Given the description of an element on the screen output the (x, y) to click on. 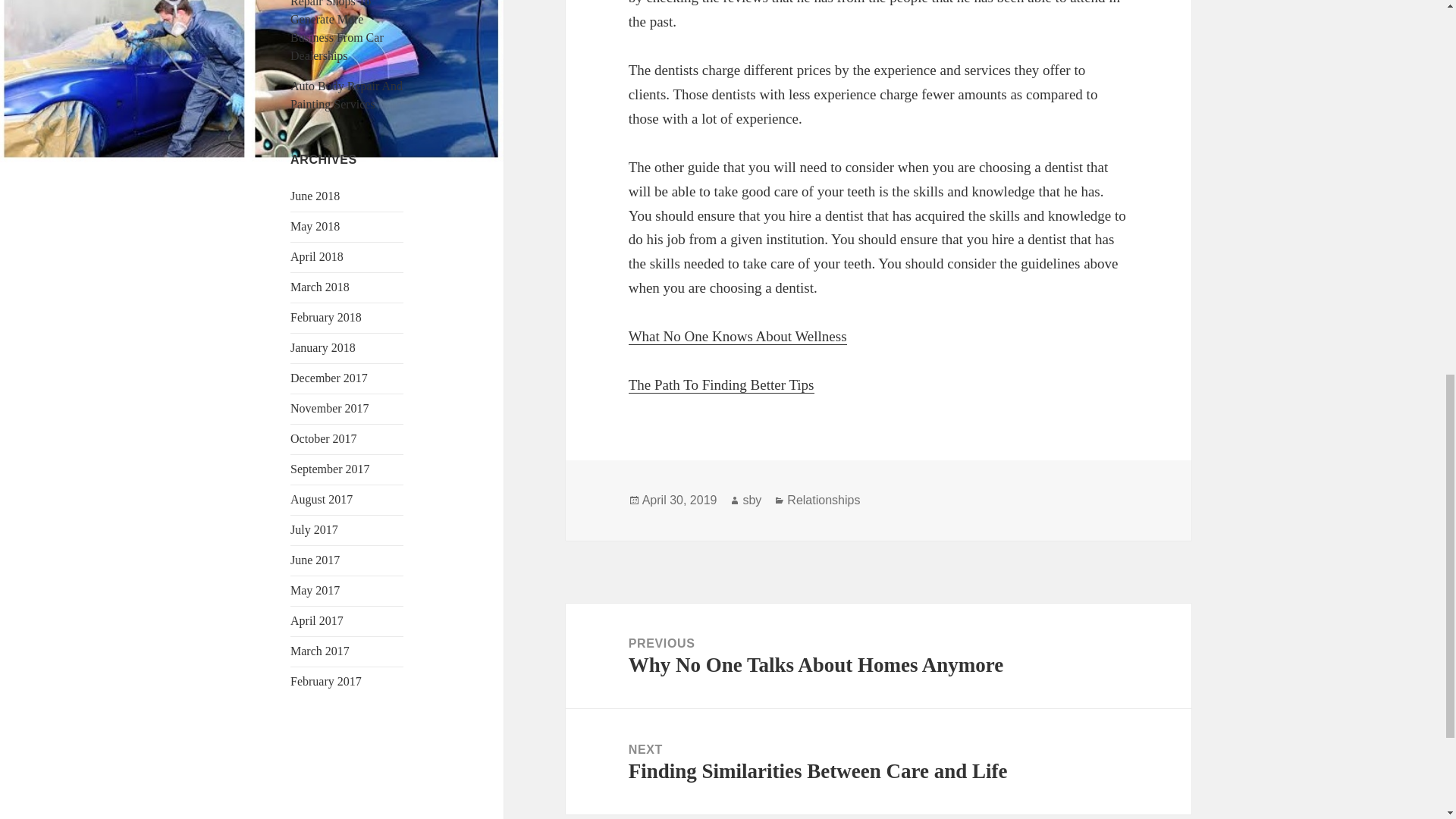
November 2017 (329, 408)
July 2017 (313, 529)
February 2018 (325, 317)
The Path To Finding Better Tips (720, 384)
August 2017 (320, 499)
March 2017 (319, 650)
September 2017 (329, 468)
February 2017 (325, 680)
December 2017 (328, 377)
March 2018 (319, 286)
Relationships (878, 656)
What No One Knows About Wellness (823, 499)
May 2018 (737, 336)
